Given the description of an element on the screen output the (x, y) to click on. 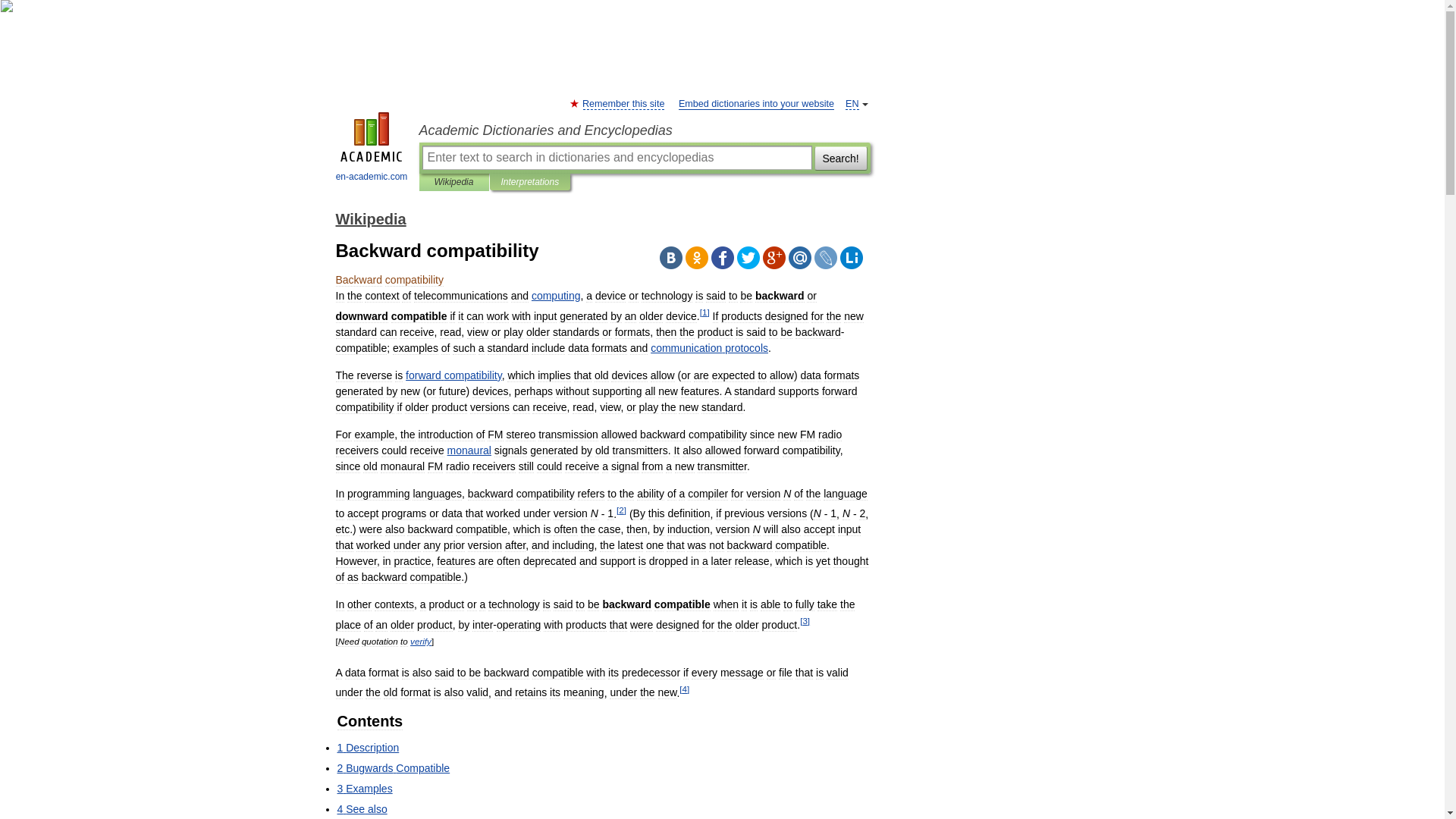
forward compatibility (454, 375)
quotation needed from source to verify from December 2008 (420, 641)
3 Examples (363, 788)
Wikipedia (453, 181)
4 See also (361, 808)
monaural (469, 450)
Interpretations (529, 181)
communication protocols (709, 347)
Remember this site (623, 103)
EN (852, 103)
verify (420, 641)
2 Bugwards Compatible (392, 767)
Wikipedia (370, 218)
Academic Dictionaries and Encyclopedias (644, 130)
en-academic.com (371, 148)
